Given the description of an element on the screen output the (x, y) to click on. 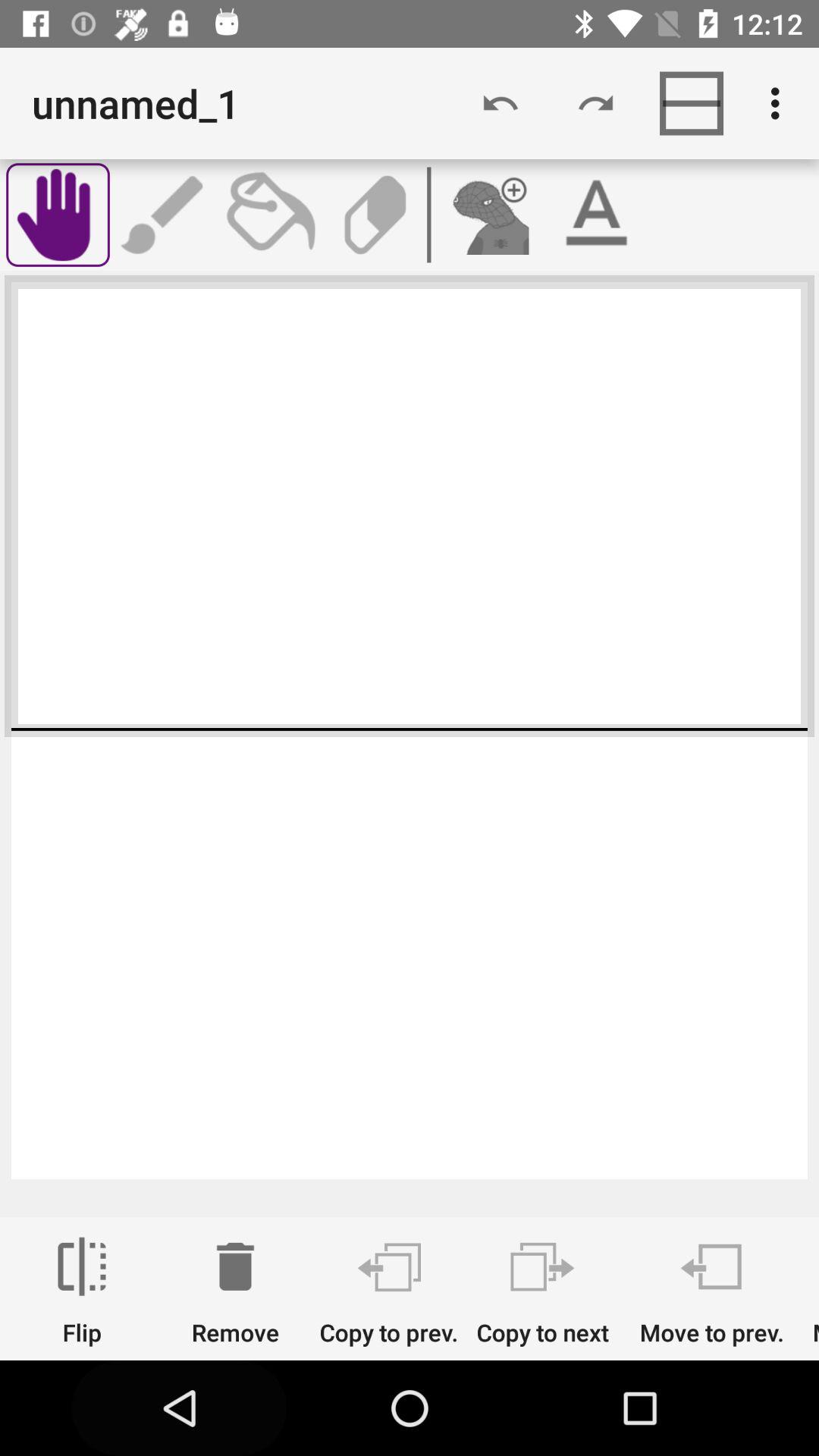
click item next to the copy to prev. item (235, 1291)
